Given the description of an element on the screen output the (x, y) to click on. 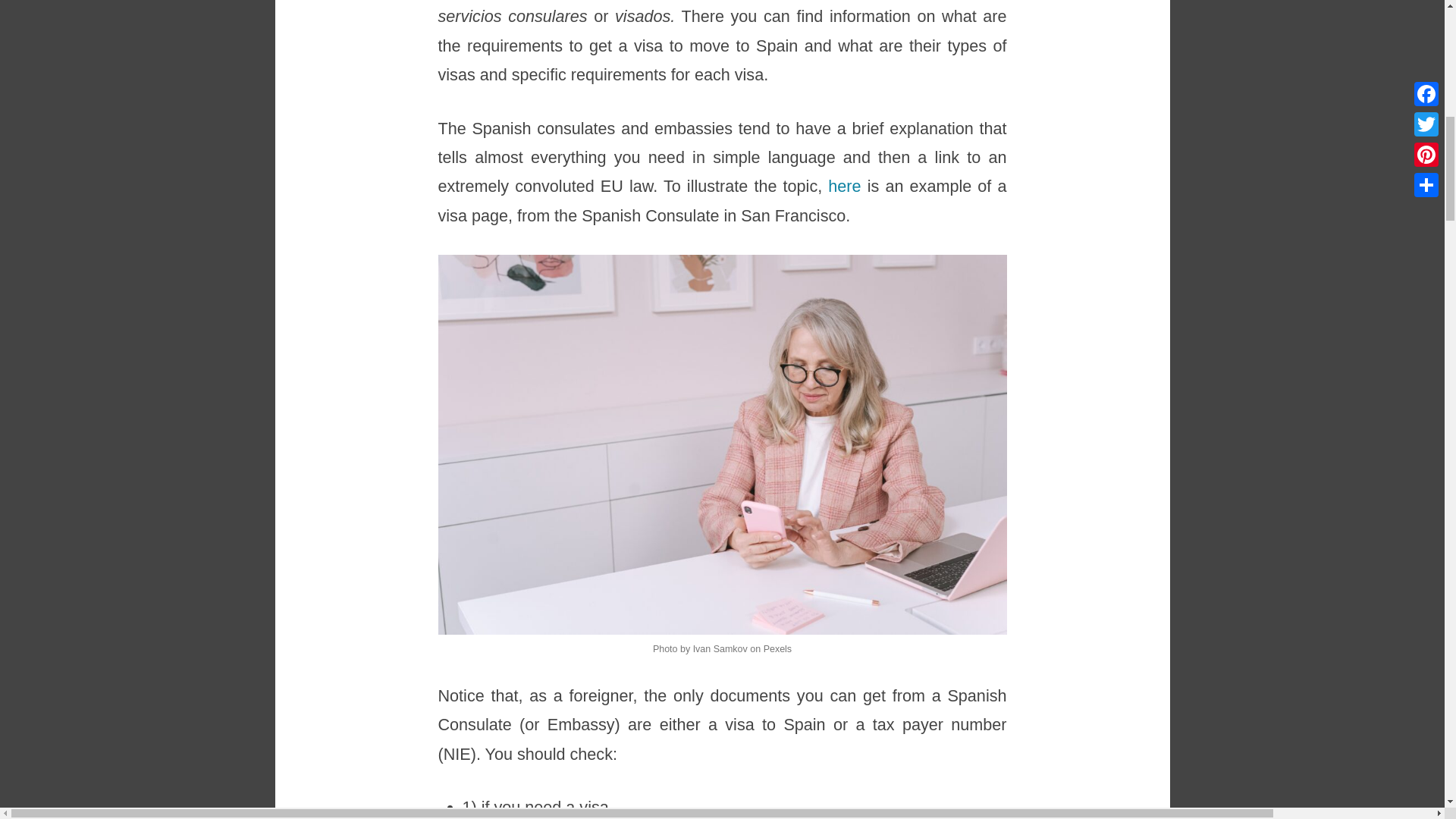
here (844, 185)
